Given the description of an element on the screen output the (x, y) to click on. 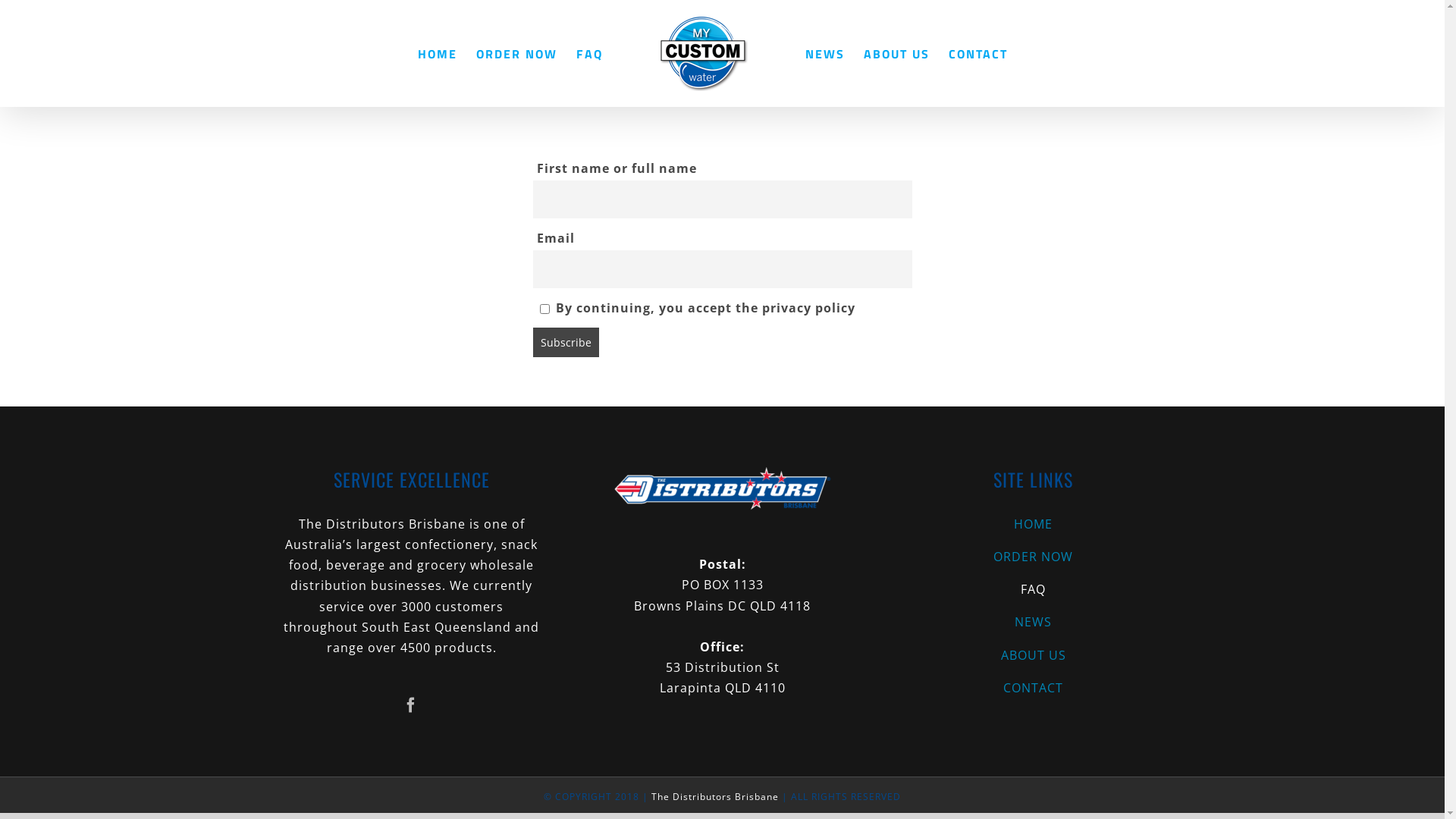
ABOUT US Element type: text (896, 53)
FAQ Element type: text (589, 53)
FAQ Element type: text (1032, 589)
The Distributors Brisbane Element type: text (714, 796)
NEWS Element type: text (824, 53)
ORDER NOW Element type: text (516, 53)
CONTACT Element type: text (1032, 687)
NEWS Element type: text (1032, 621)
HOME Element type: text (437, 53)
ORDER NOW Element type: text (1032, 556)
Subscribe Element type: text (565, 342)
HOME Element type: text (1032, 524)
CONTACT Element type: text (977, 53)
ABOUT US Element type: text (1032, 655)
